Given the description of an element on the screen output the (x, y) to click on. 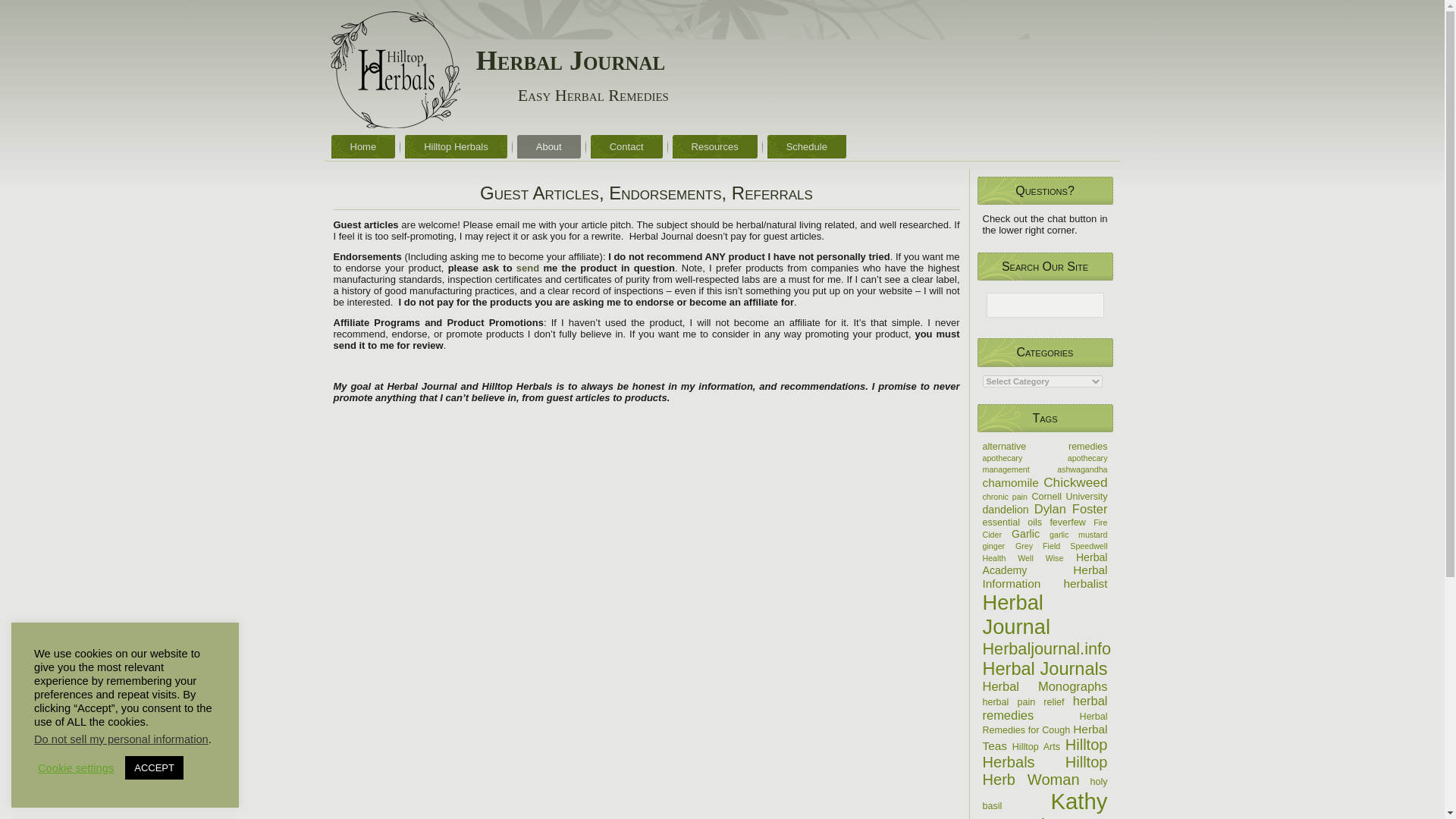
apothecary management (1045, 463)
About (548, 146)
Herbal Journal (570, 60)
ashwagandha (1081, 469)
apothecary (1002, 457)
garlic mustard (1077, 533)
Fire Cider (1045, 527)
Schedule (806, 146)
dandelion (1005, 509)
Hilltop Herbals (455, 146)
Home (362, 146)
Herbal Information (1045, 576)
Resources (714, 146)
About (548, 146)
Schedule (806, 146)
